Given the description of an element on the screen output the (x, y) to click on. 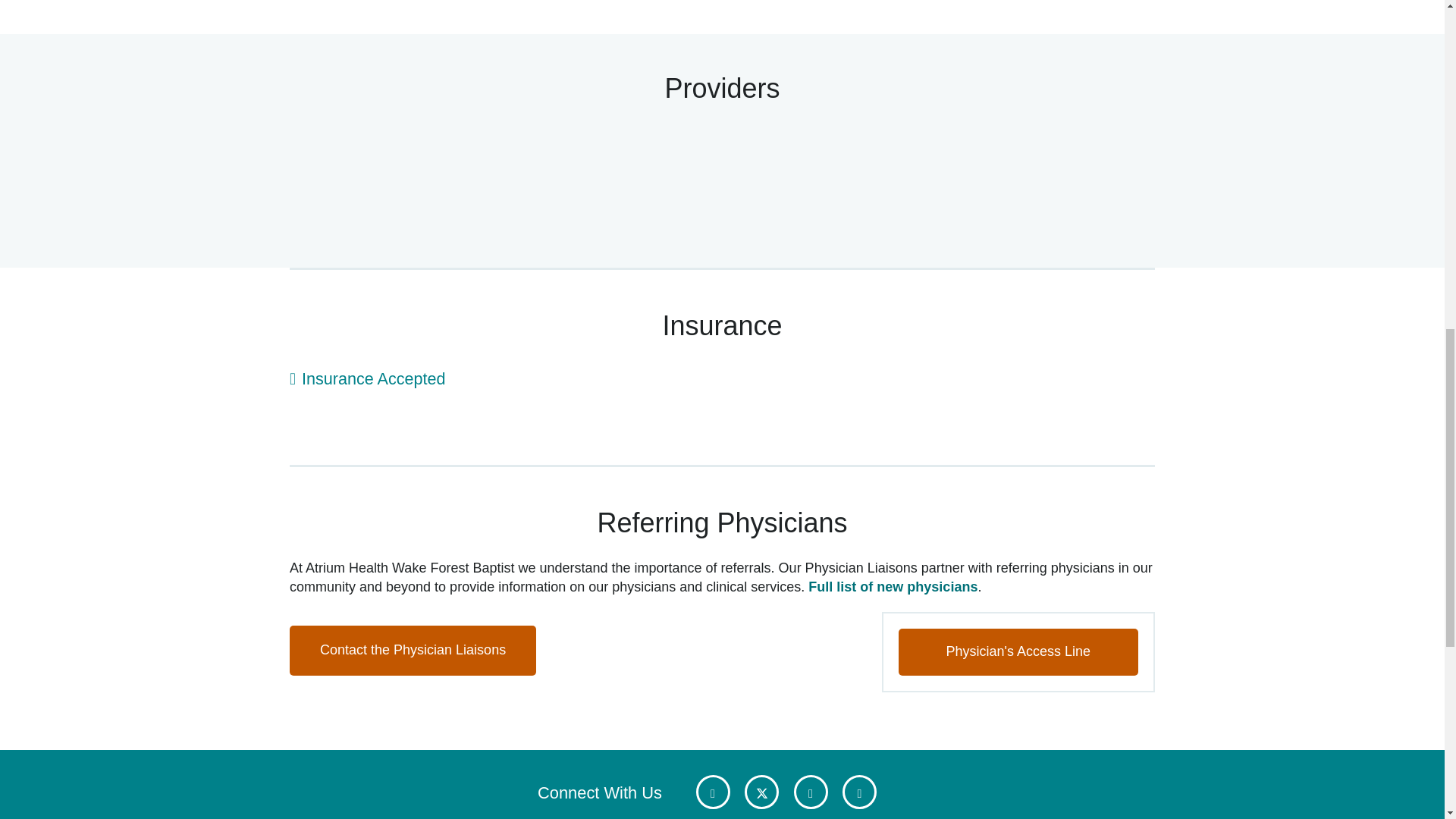
Instagram (859, 791)
YouTube (810, 791)
twitter (761, 791)
Full list of new physicians (892, 586)
facebook (712, 791)
Contact the Physician Liaisons (412, 650)
Physician's Access Line (1018, 651)
